Given the description of an element on the screen output the (x, y) to click on. 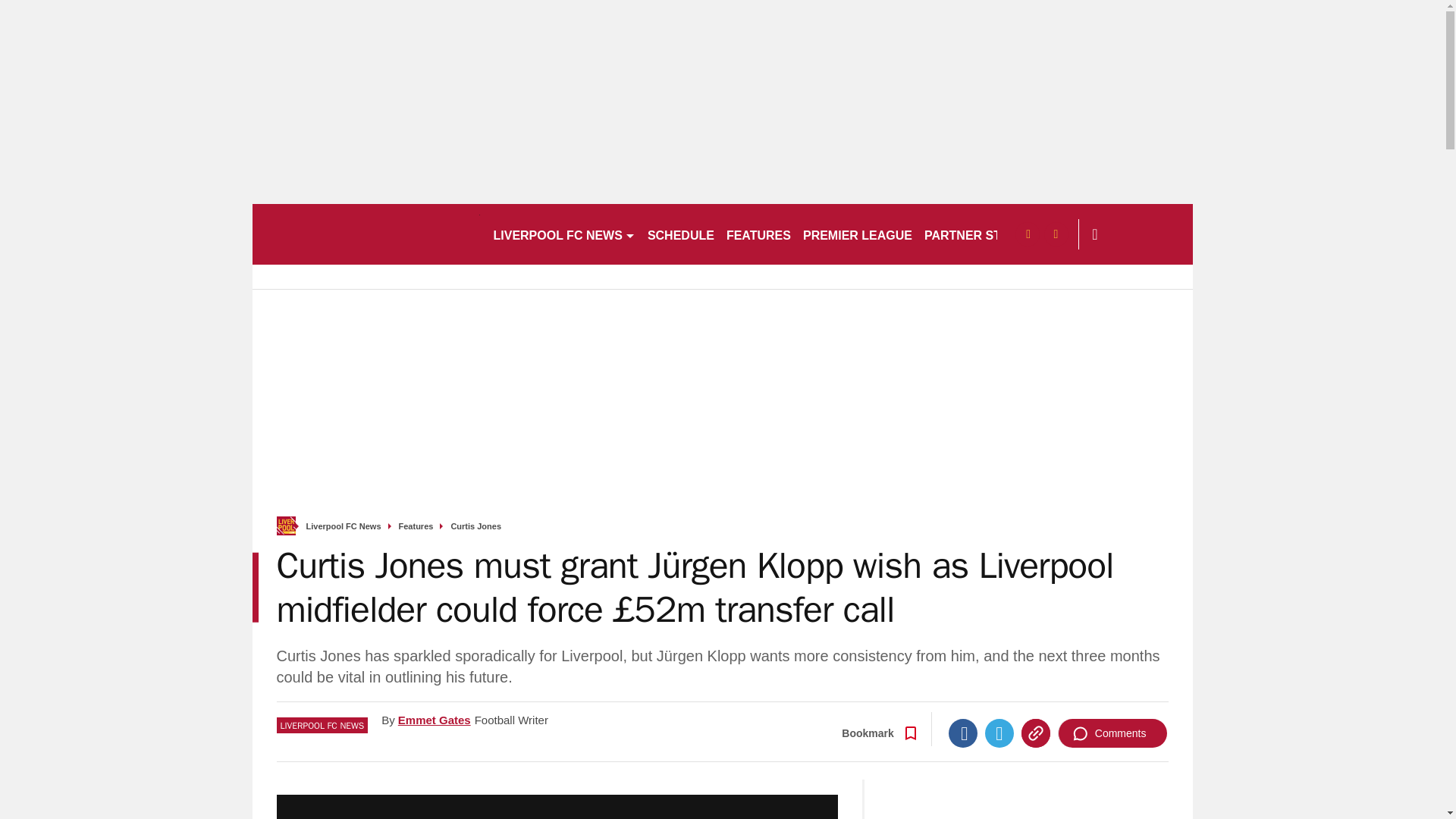
Twitter (999, 733)
FEATURES (758, 233)
Liverpool FC News (343, 526)
frontpage (285, 525)
PARTNER STORIES (981, 233)
Features (415, 526)
LIVERPOOL FC NEWS (563, 233)
PREMIER LEAGUE (857, 233)
Comments (1112, 733)
facebook (1026, 233)
SCHEDULE (681, 233)
Facebook (962, 733)
Curtis Jones (474, 526)
twitter (1055, 233)
liverpool (365, 233)
